Given the description of an element on the screen output the (x, y) to click on. 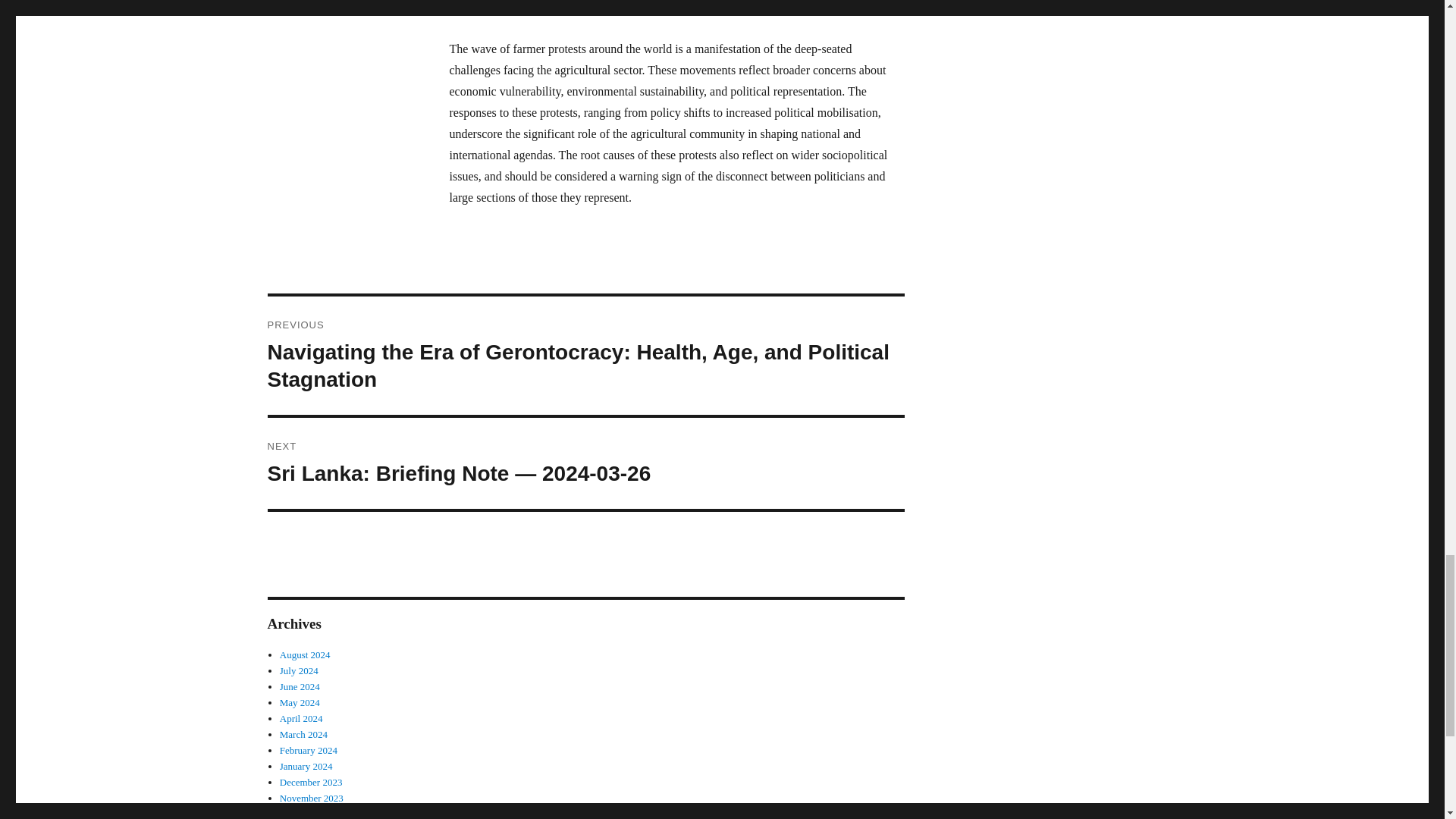
December 2023 (310, 781)
March 2024 (303, 734)
August 2024 (304, 654)
February 2024 (308, 749)
April 2024 (301, 717)
January 2024 (306, 766)
June 2024 (299, 686)
July 2024 (298, 670)
November 2023 (311, 797)
May 2024 (299, 702)
